Given the description of an element on the screen output the (x, y) to click on. 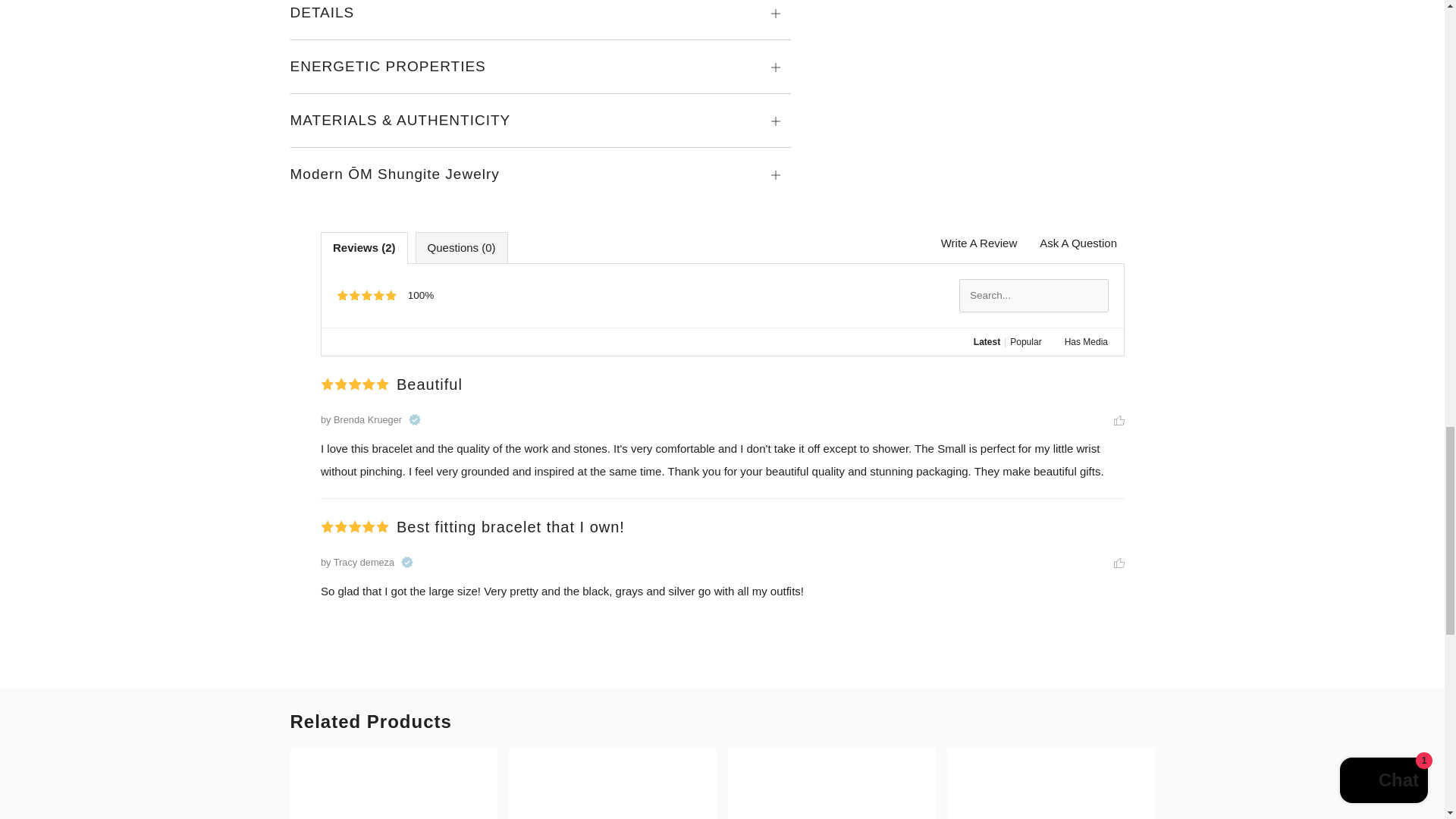
Verified review (413, 419)
Verified review (406, 562)
Shungite POWER 108 Mala (832, 783)
Shungite GOLDEN RATIO Tiger Eye Mala (393, 783)
